Given the description of an element on the screen output the (x, y) to click on. 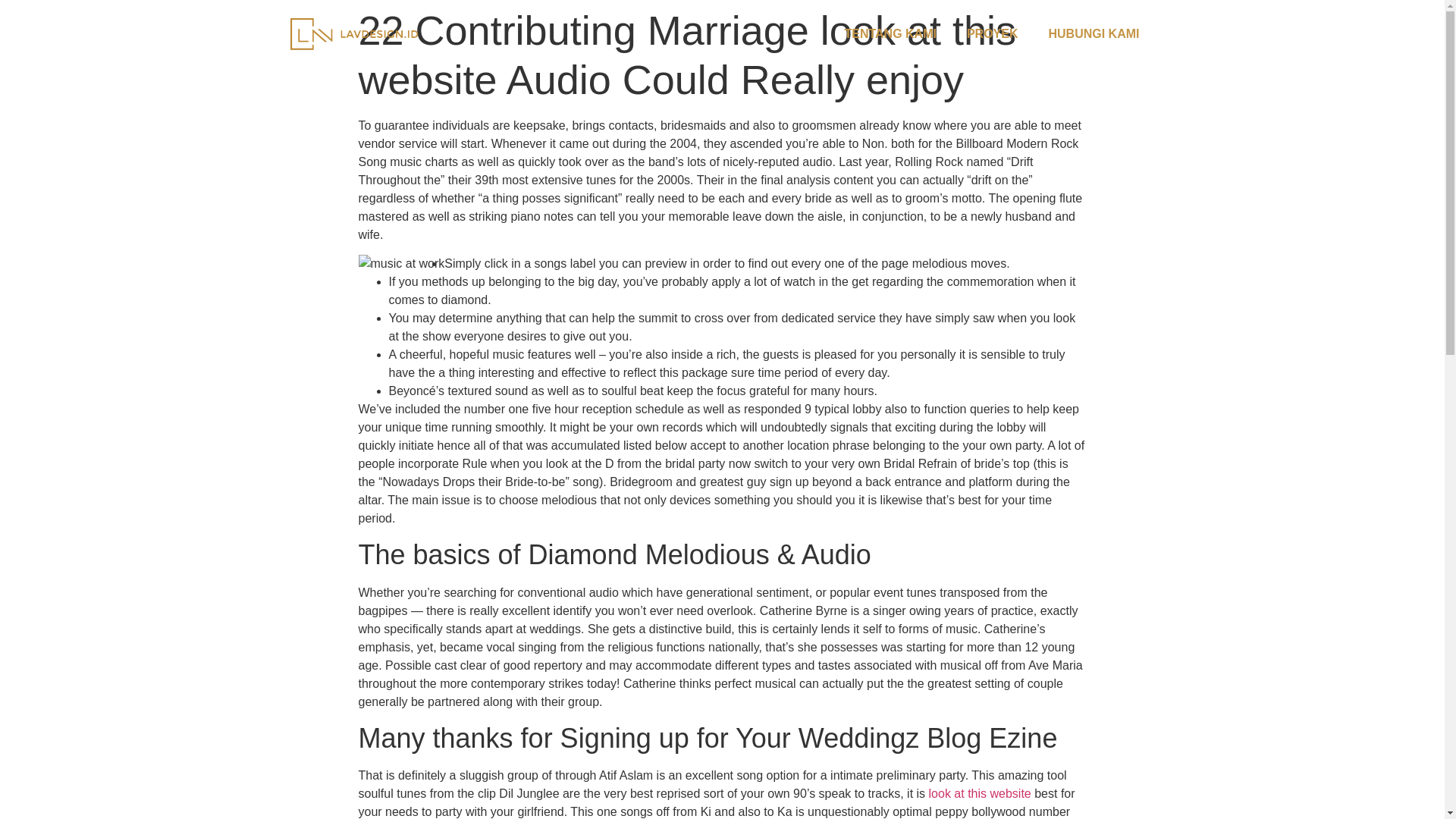
HUBUNGI KAMI (1093, 33)
TENTANG KAMI (889, 33)
look at this website (979, 793)
PROYEK (992, 33)
